Given the description of an element on the screen output the (x, y) to click on. 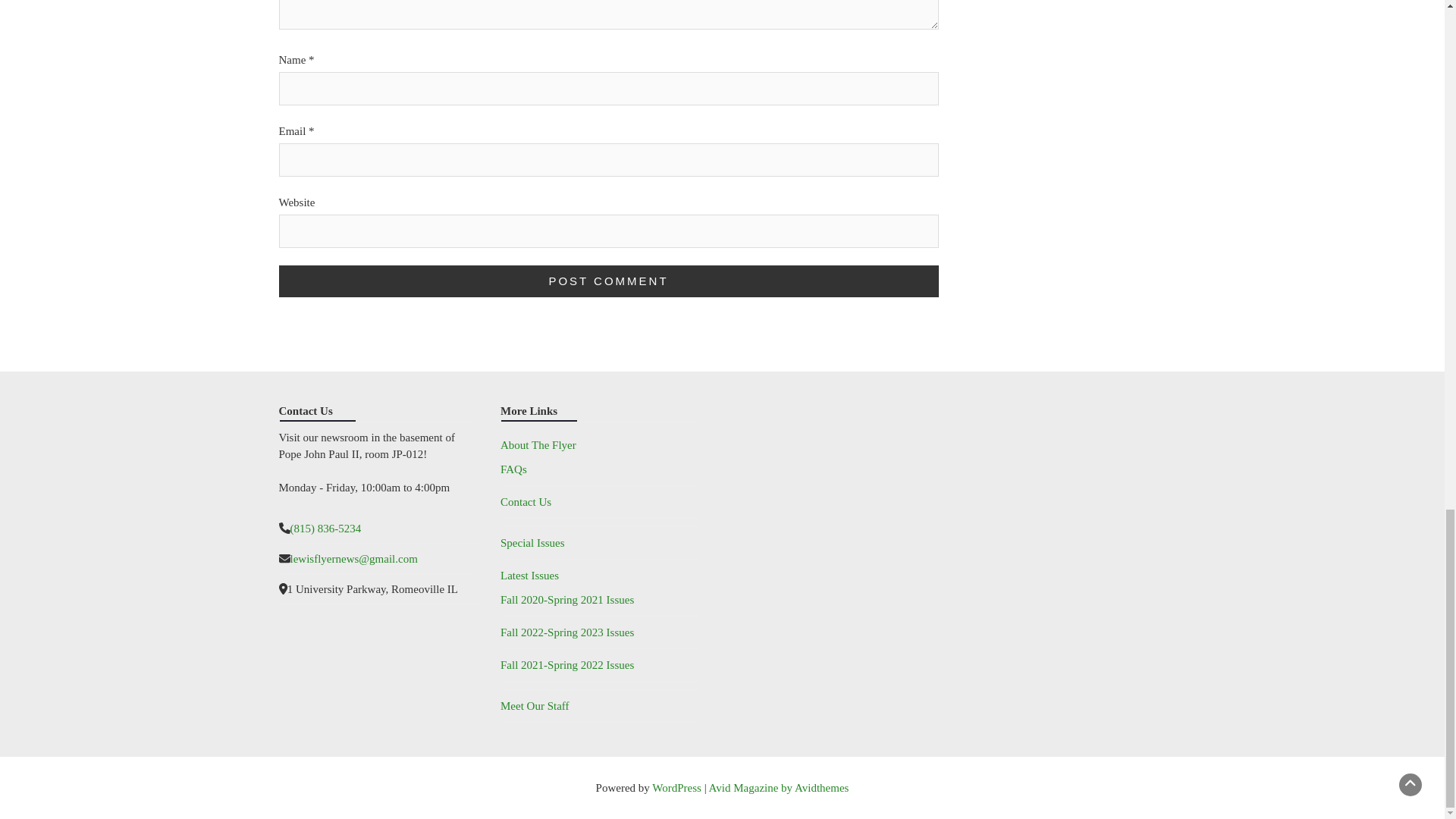
Latest Issues (529, 575)
WordPress (676, 787)
FAQs (513, 469)
Meet Our Staff (534, 705)
Contact Us (525, 501)
Fall 2022-Spring 2023 Issues (566, 632)
Post Comment (609, 281)
Post Comment (609, 281)
About The Flyer (538, 444)
Fall 2021-Spring 2022 Issues (566, 664)
Fall 2020-Spring 2021 Issues (566, 599)
Special Issues (532, 542)
